Given the description of an element on the screen output the (x, y) to click on. 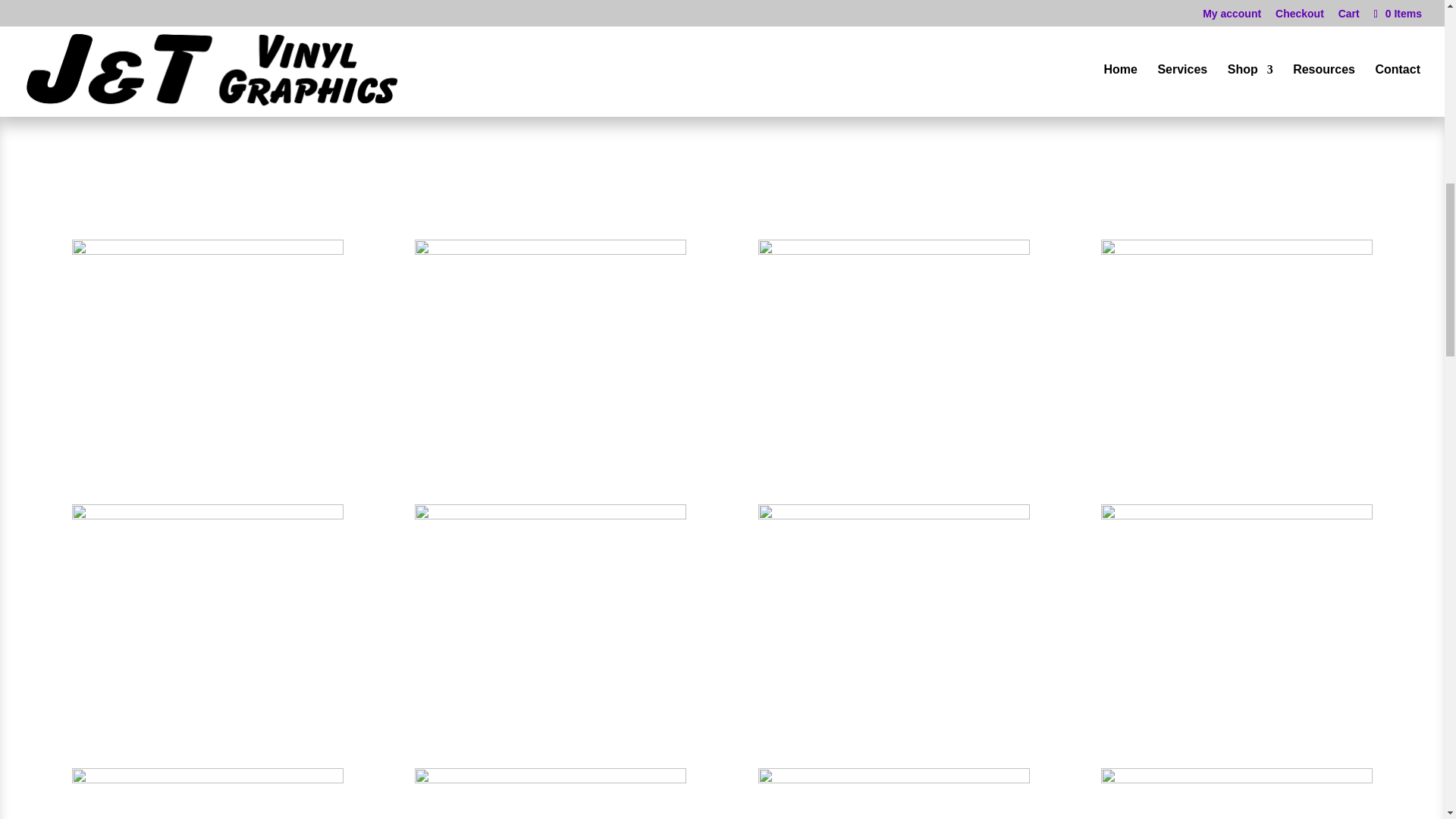
lettering30 (893, 779)
Lettering 002 (1236, 514)
Lettering 004 (549, 514)
lettering31 (549, 779)
Lettering 009 (207, 250)
lettering29 (1236, 779)
Lettering 003 (893, 514)
Lettering 007 (893, 250)
Lettering 008 (549, 250)
Lettering 006 (1236, 250)
